Given the description of an element on the screen output the (x, y) to click on. 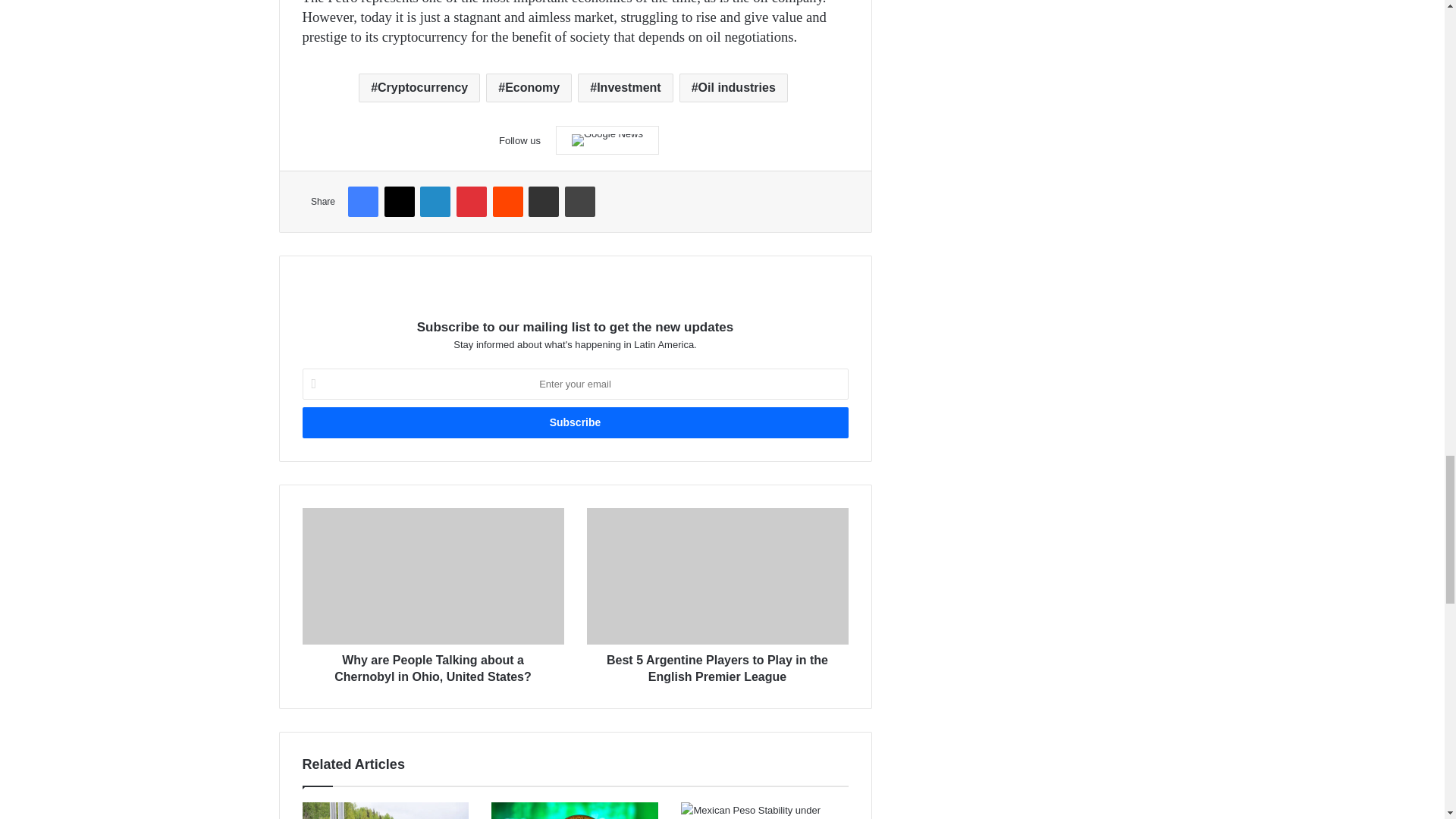
Subscribe (574, 422)
Google News (607, 140)
X (399, 201)
Facebook (362, 201)
LinkedIn (434, 201)
